Given the description of an element on the screen output the (x, y) to click on. 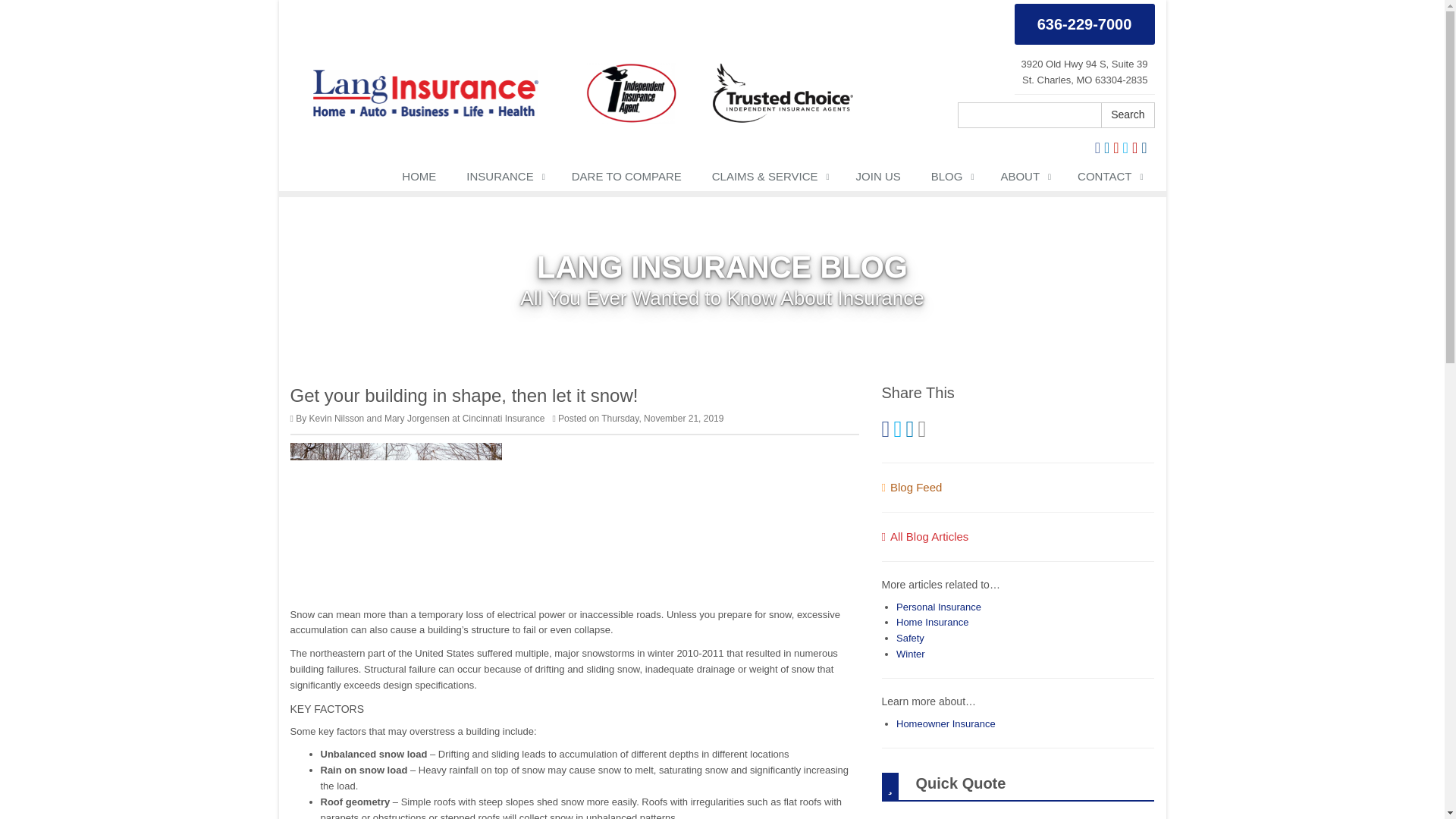
HOME (419, 179)
INSURANCE (503, 179)
DARE TO COMPARE (626, 179)
